Given the description of an element on the screen output the (x, y) to click on. 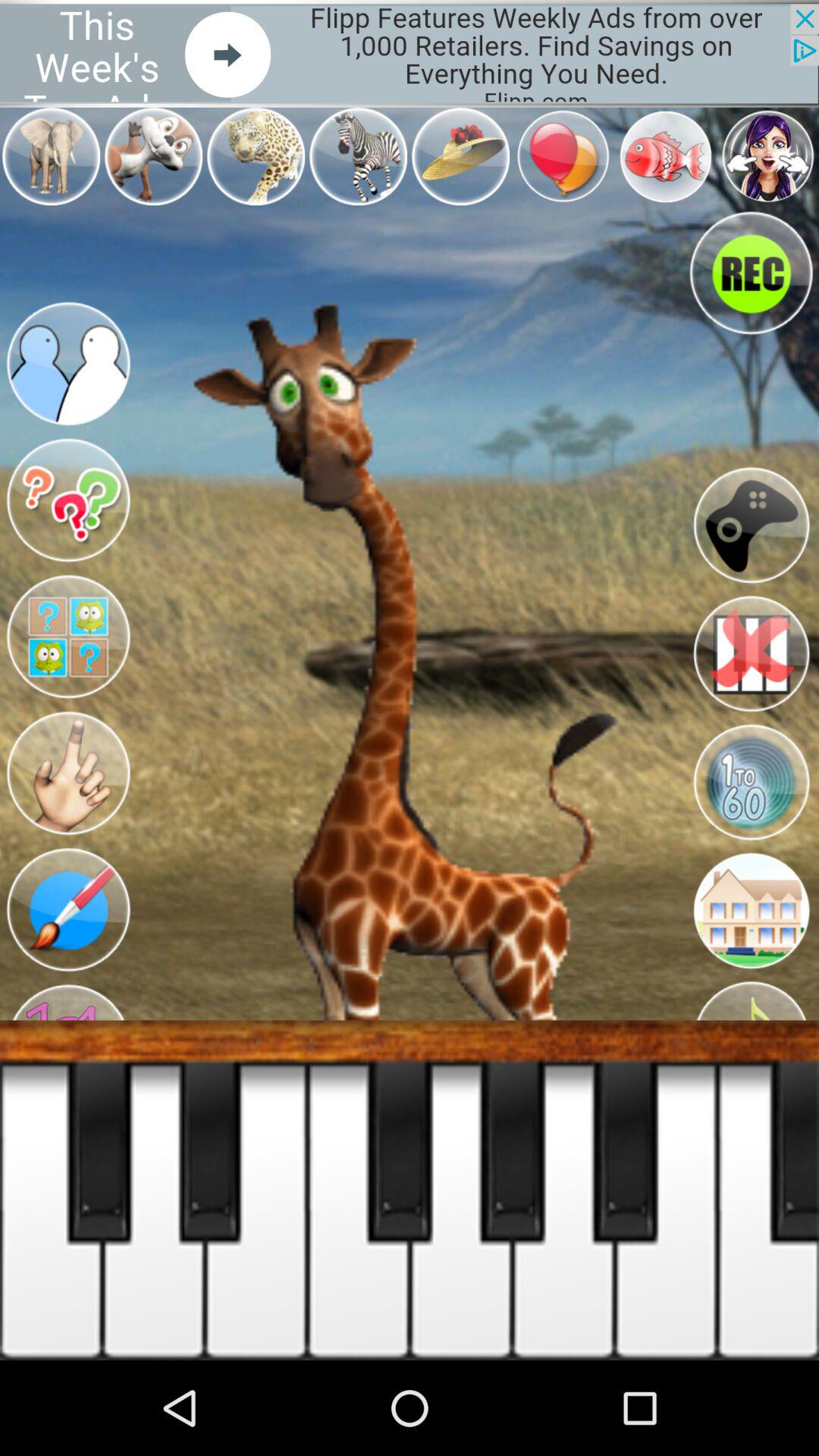
click on fifth image on right from top (751, 782)
the third image in the first row from the top (255, 156)
select the icon which is left side of the hat (358, 156)
